Given the description of an element on the screen output the (x, y) to click on. 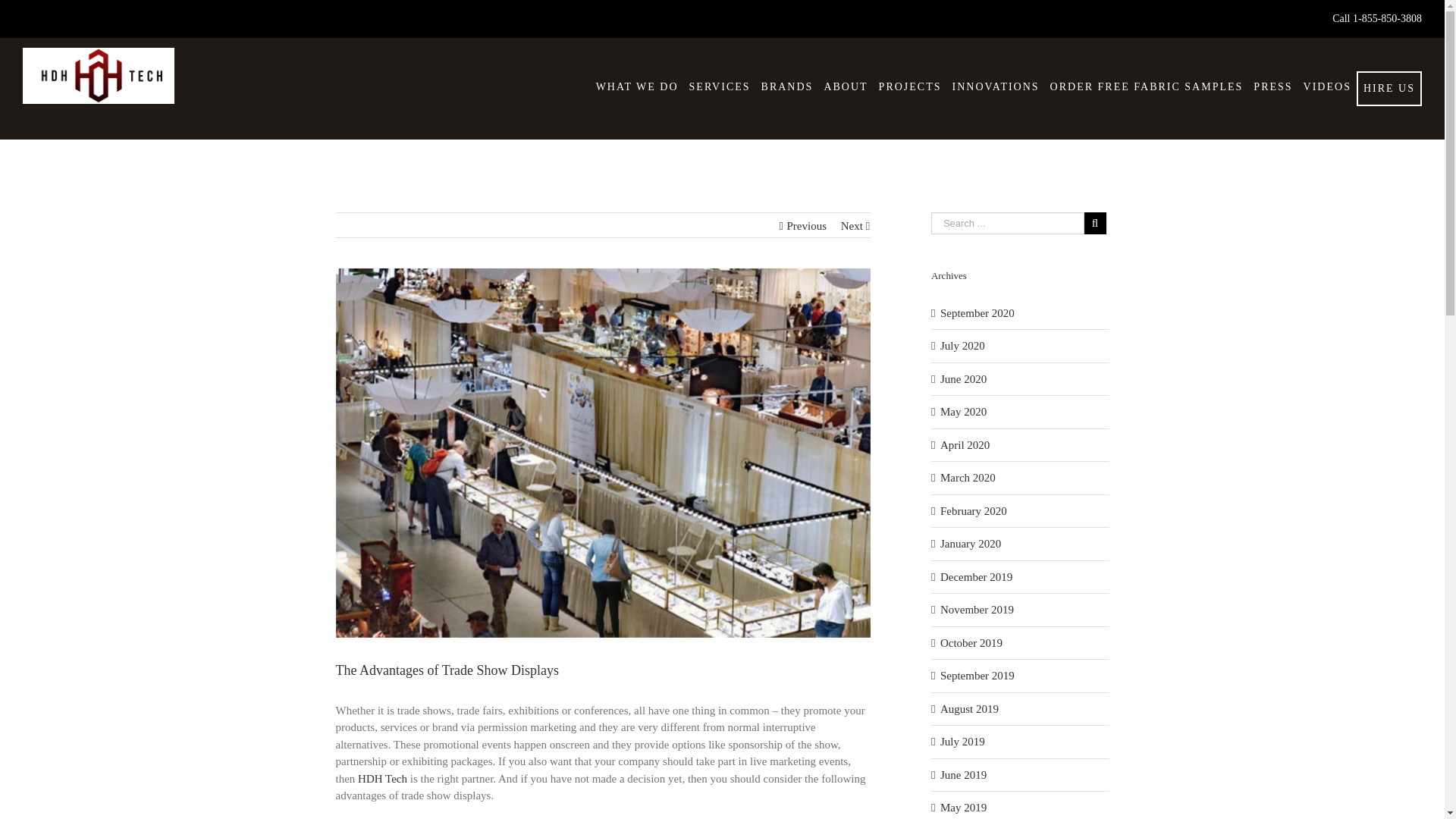
PRESS (1272, 87)
HIRE US (1389, 88)
July 2020 (962, 345)
September 2020 (977, 312)
PROJECTS (910, 87)
INNOVATIONS (996, 87)
VIDEOS (1327, 87)
SERVICES (719, 87)
WHAT WE DO (637, 87)
ABOUT (845, 87)
